Given the description of an element on the screen output the (x, y) to click on. 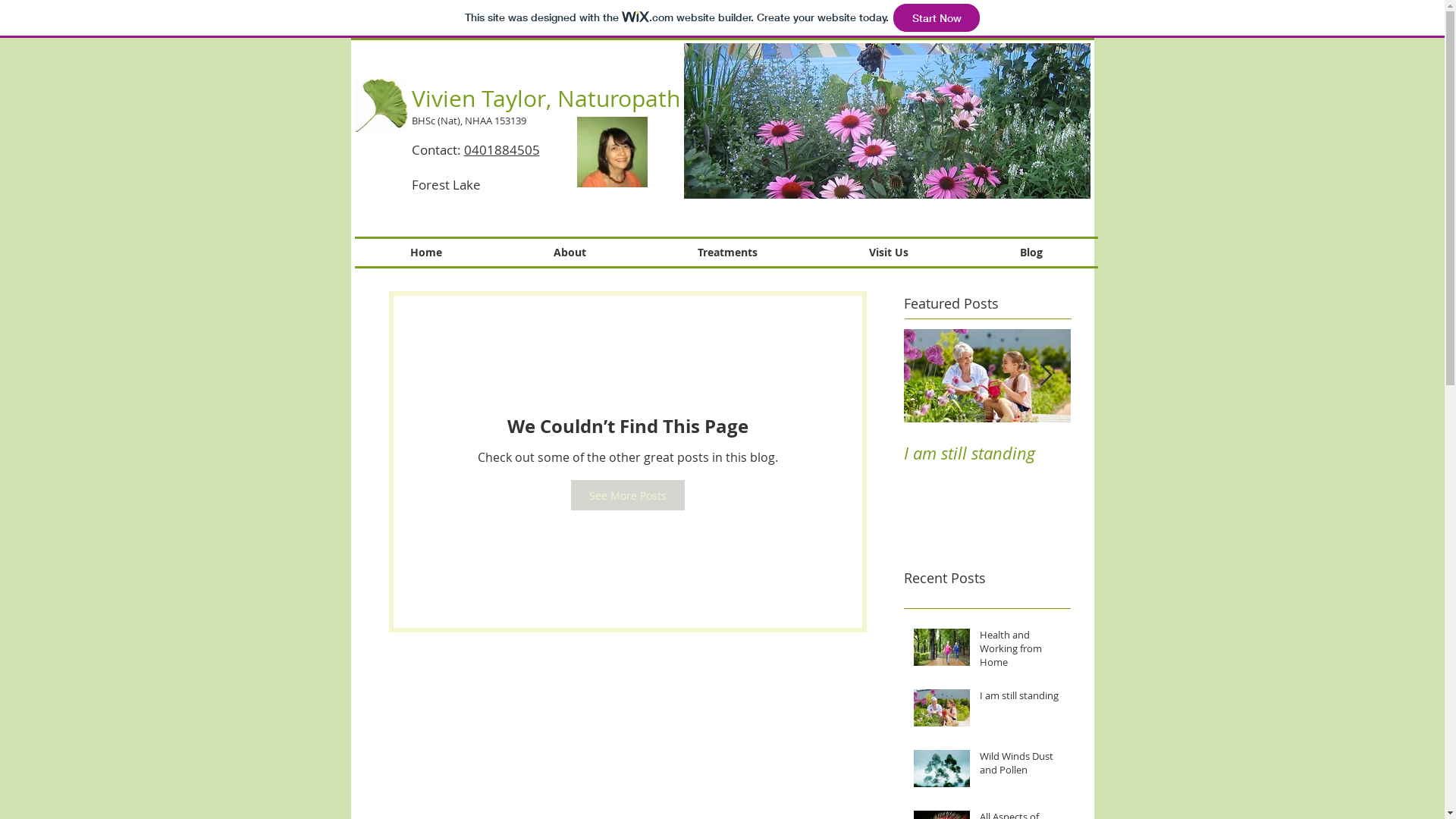
See More Posts Element type: text (627, 495)
BHSc (Nat), NHAA 153139 Element type: text (468, 120)
Health and Working from Home Element type: text (1020, 651)
Visit Us Element type: text (887, 252)
Vivien Taylor, Naturopath Element type: text (545, 98)
Blog Element type: text (1031, 252)
Home Element type: text (426, 252)
Treatments Element type: text (726, 252)
I am still standing Element type: text (986, 453)
Wild Winds Dust and Pollen Element type: text (1153, 464)
I am still standing Element type: text (1020, 698)
About Element type: text (569, 252)
All Aspects of Men's Health Element type: text (1320, 464)
Wild Winds Dust and Pollen Element type: text (1020, 765)
0401884505 Element type: text (501, 149)
